Given the description of an element on the screen output the (x, y) to click on. 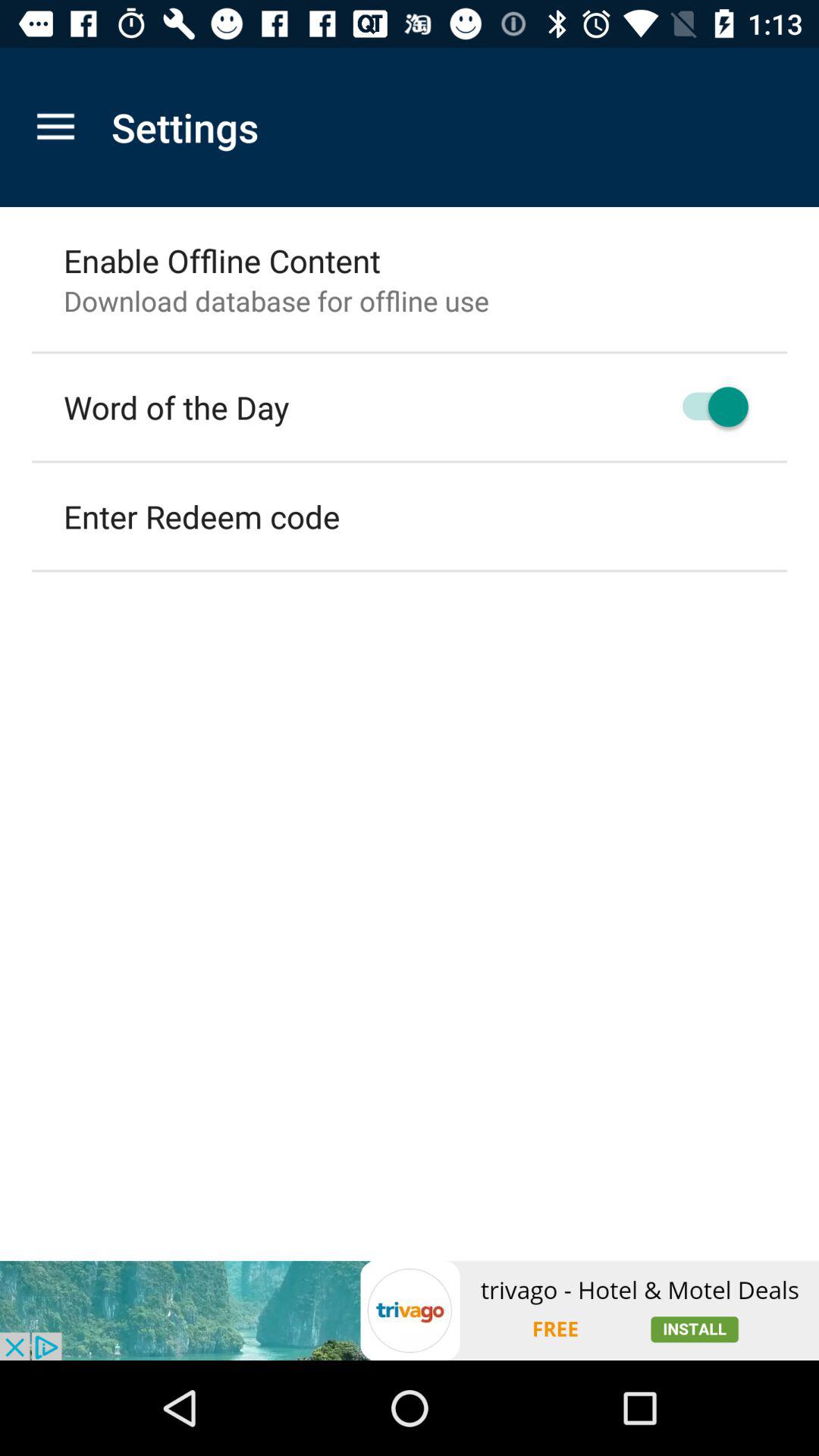
advertisement (409, 1310)
